Given the description of an element on the screen output the (x, y) to click on. 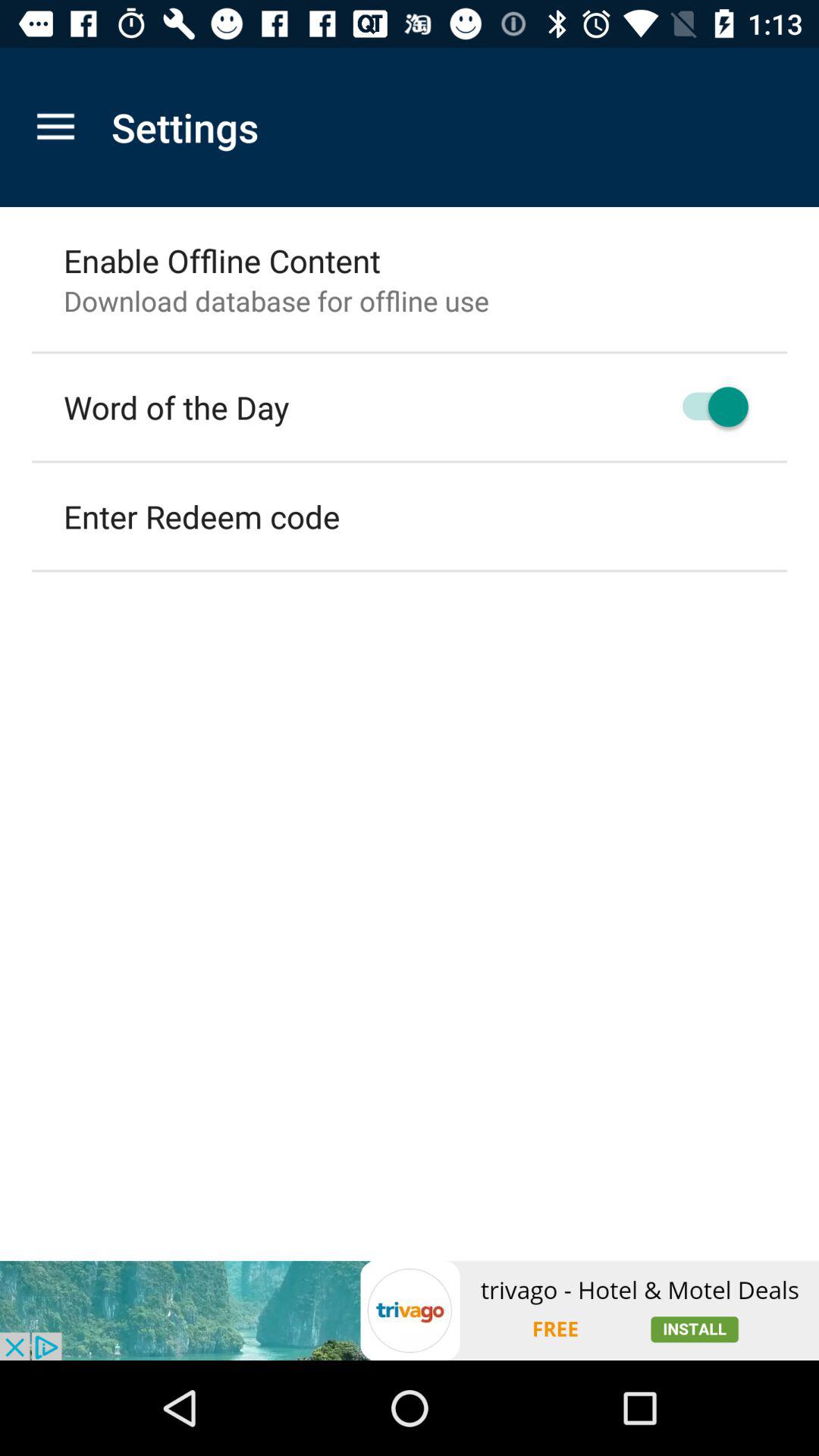
advertisement (409, 1310)
